Given the description of an element on the screen output the (x, y) to click on. 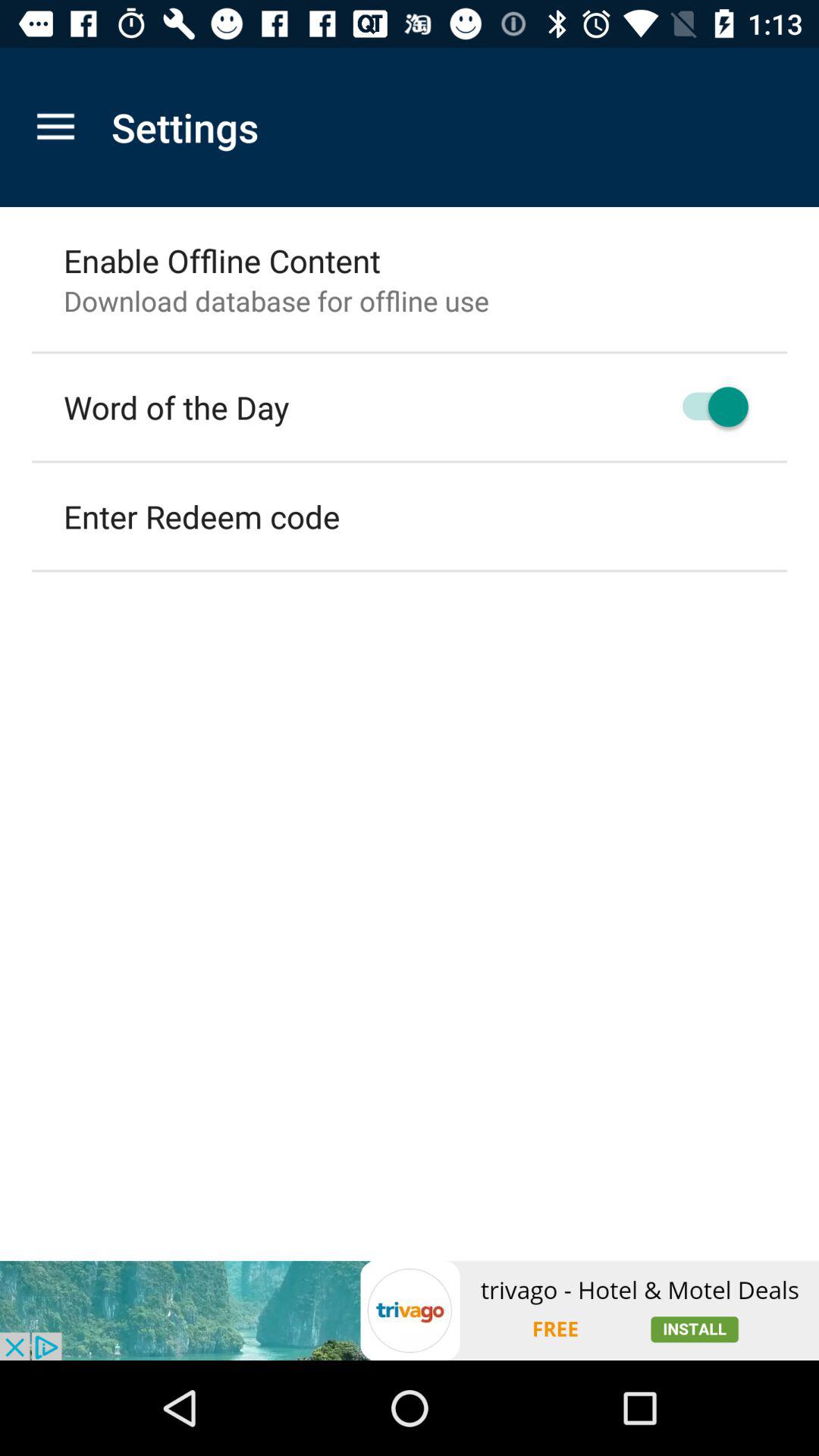
advertisement (409, 1310)
